Given the description of an element on the screen output the (x, y) to click on. 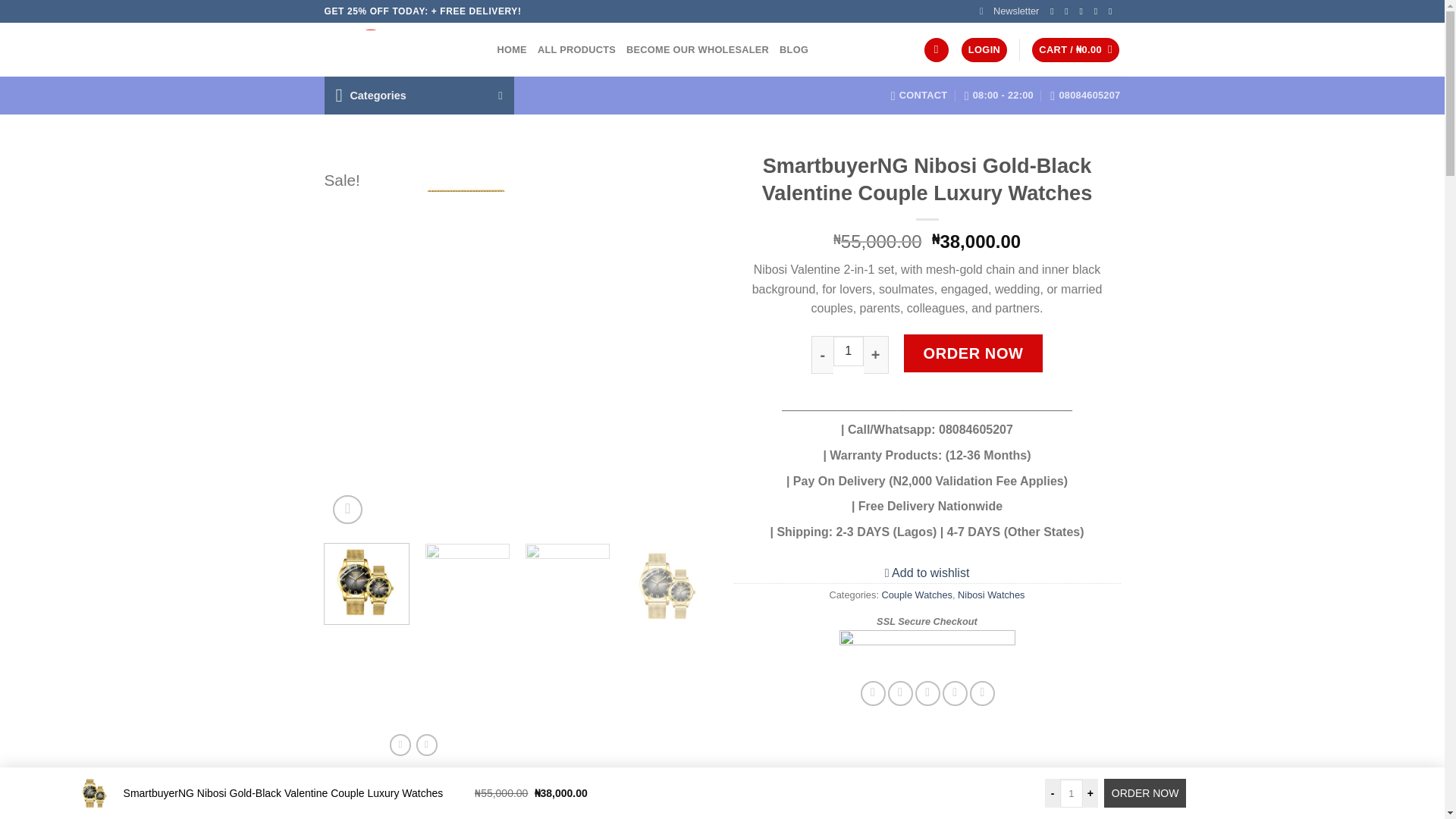
Cart (1075, 50)
LOGIN (983, 50)
08084605207 (1084, 95)
ORDER NOW (1144, 792)
CONTACT (919, 95)
08084605207 (1084, 95)
SmartbuyerNG - Seamlessly shop quality products (399, 50)
HOME (512, 50)
BECOME OUR WHOLESALER (697, 50)
Sign up for Newsletter (1009, 11)
08:00 - 22:00  (998, 95)
BLOG (793, 50)
1 (847, 350)
